Given the description of an element on the screen output the (x, y) to click on. 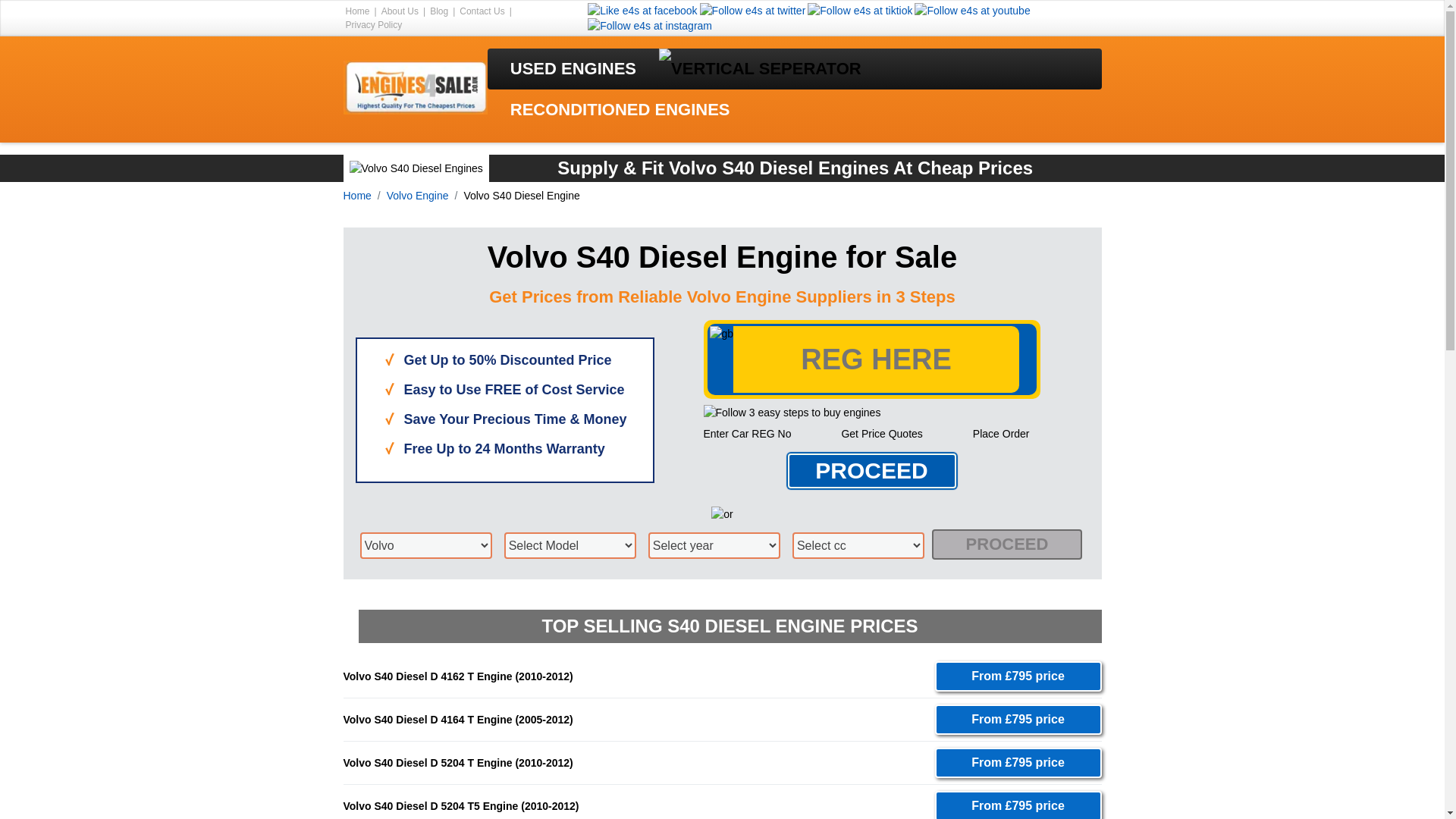
USED ENGINES (573, 68)
Privacy Policy (374, 24)
facebook (642, 10)
Home (356, 195)
about us (400, 10)
Volvo Engine (417, 195)
instagram (649, 25)
Proceed (871, 470)
twitter (753, 10)
Volvo Engine (417, 195)
